Given the description of an element on the screen output the (x, y) to click on. 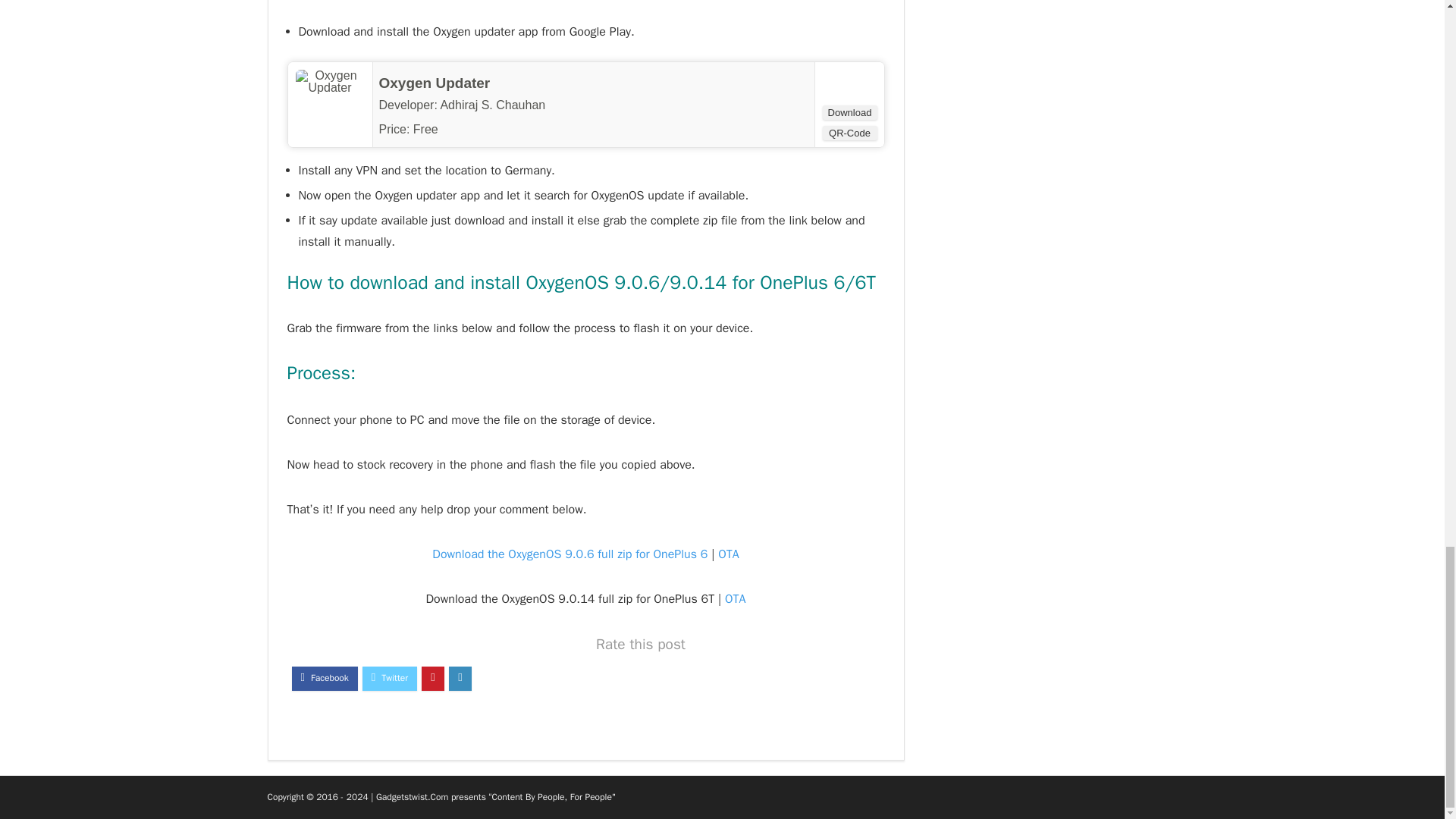
Adhiraj S. Chauhan (491, 104)
Download (849, 112)
OTA (728, 554)
Oxygen Updater (434, 82)
OTA (735, 598)
5 of 5 stars (470, 128)
Download the OxygenOS 9.0.6 full zip for OnePlus 6 (569, 554)
Oxygen Updater (434, 82)
